Given the description of an element on the screen output the (x, y) to click on. 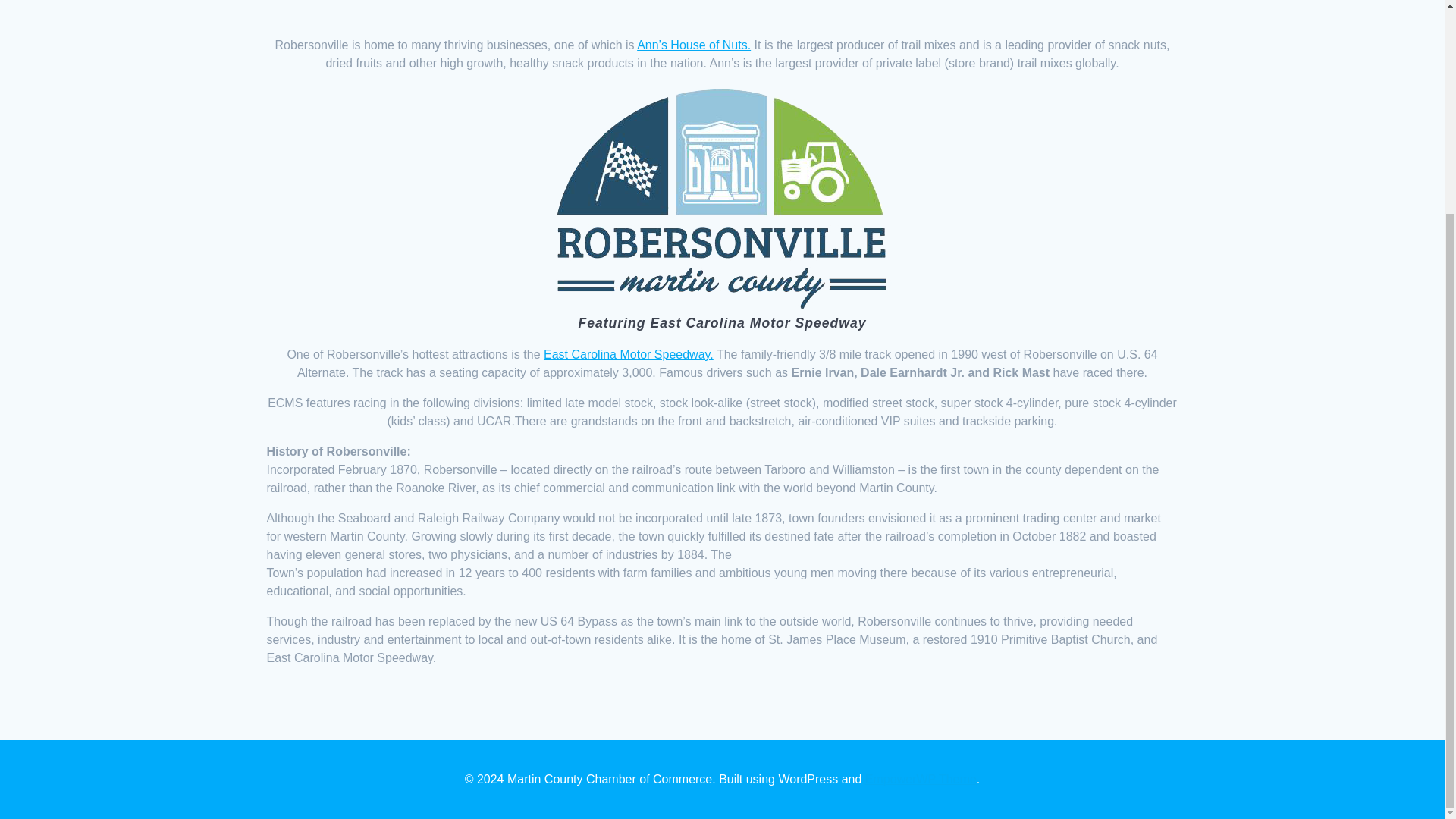
East Carolina Motor Speedway. (628, 354)
EmpowerWP Theme (920, 779)
